Given the description of an element on the screen output the (x, y) to click on. 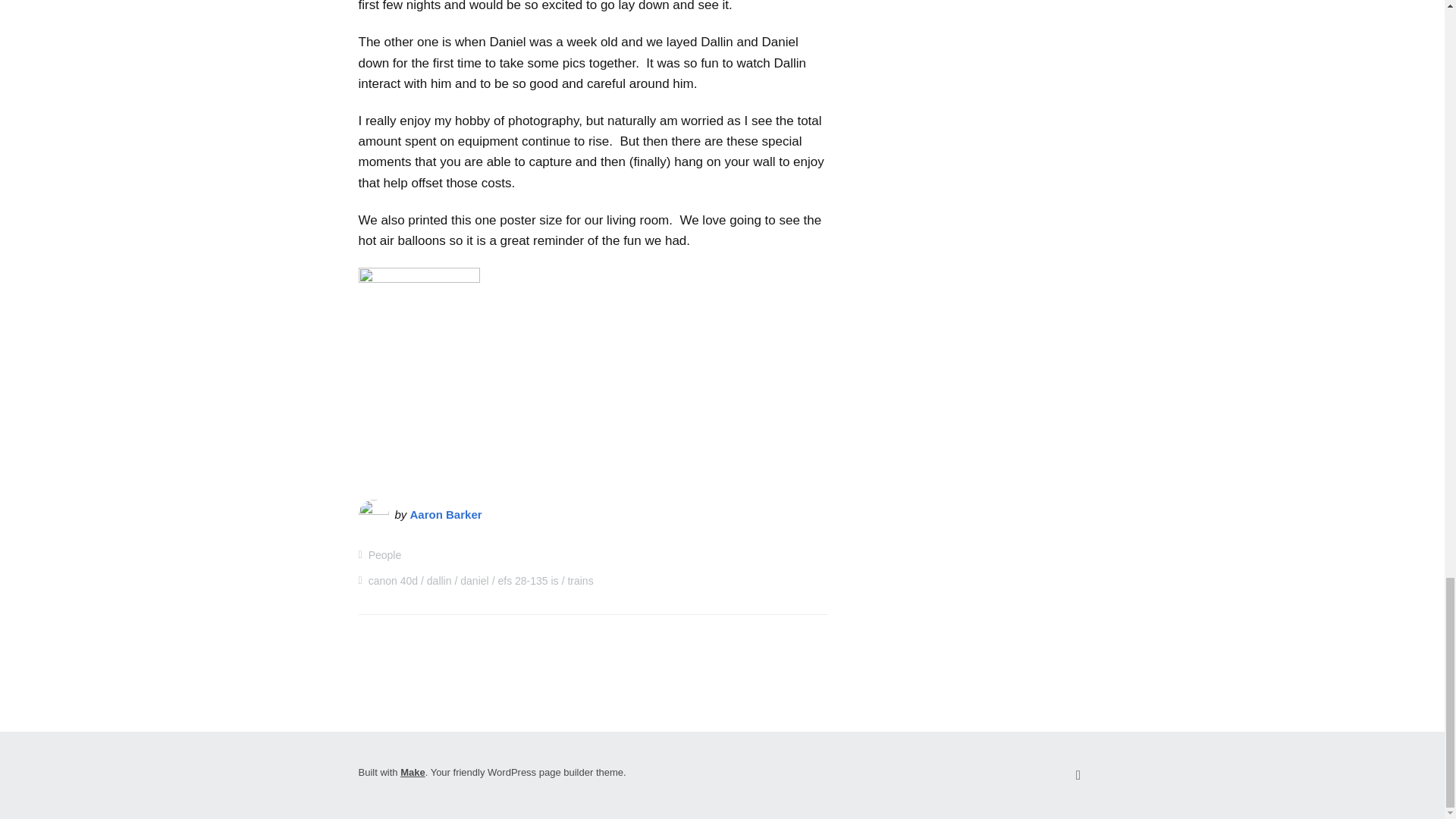
Make (412, 772)
canon 40d (392, 580)
dallin (438, 580)
Aaron Barker (445, 513)
trains (579, 580)
daniel (473, 580)
People (384, 554)
efs 28-135 is (527, 580)
